Given the description of an element on the screen output the (x, y) to click on. 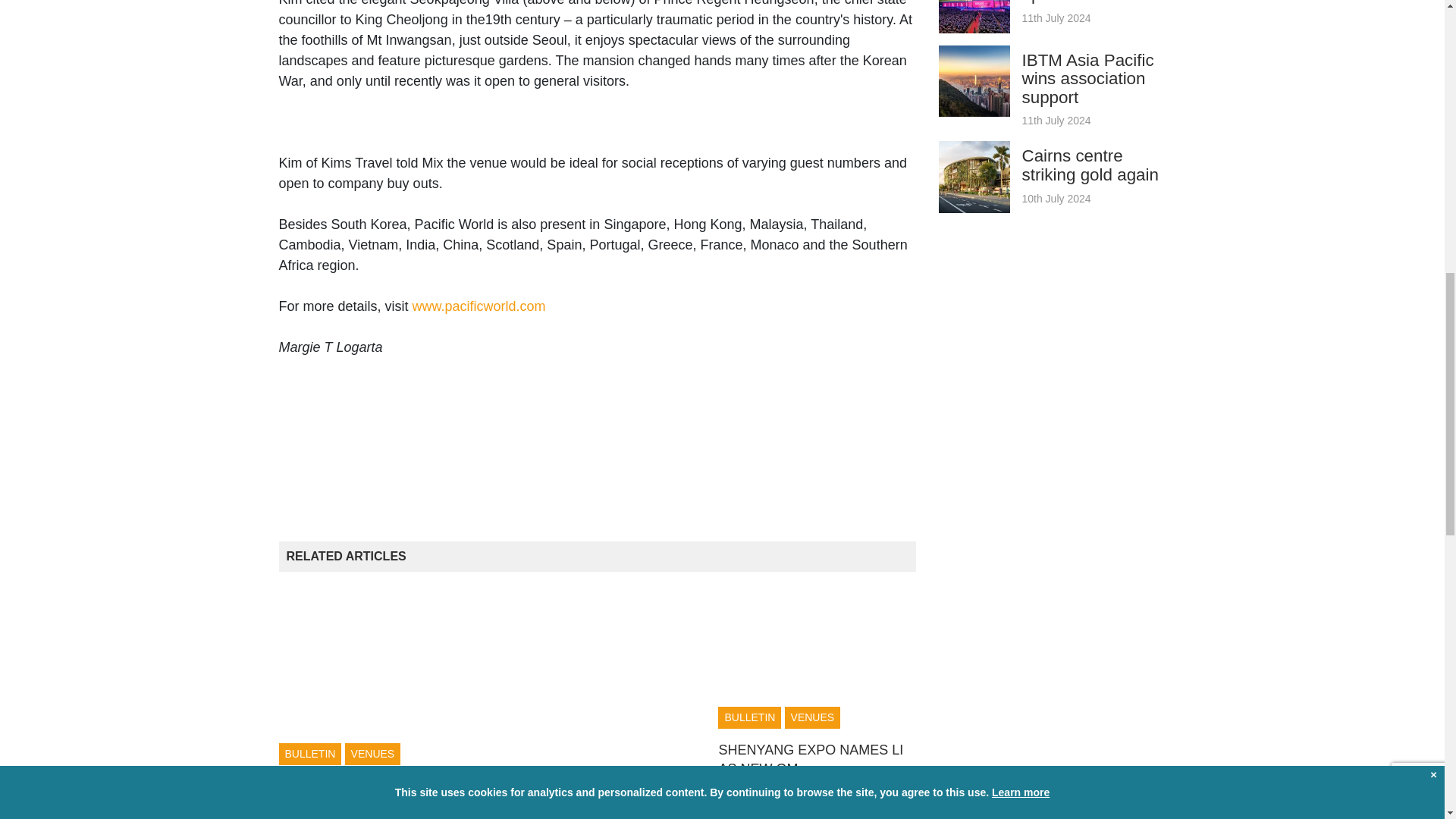
www.pacificworld.com (479, 305)
BULLETIN (528, 803)
SHENYANG EXPO NAMES LI AS NEW GM (809, 759)
BULLETIN (748, 717)
EXPERIENTIAL (608, 803)
VENUES (812, 717)
BULLETIN (310, 753)
DIANE CHEN TAKING ON HKCEC ROLE (360, 795)
VENUES (373, 753)
